Given the description of an element on the screen output the (x, y) to click on. 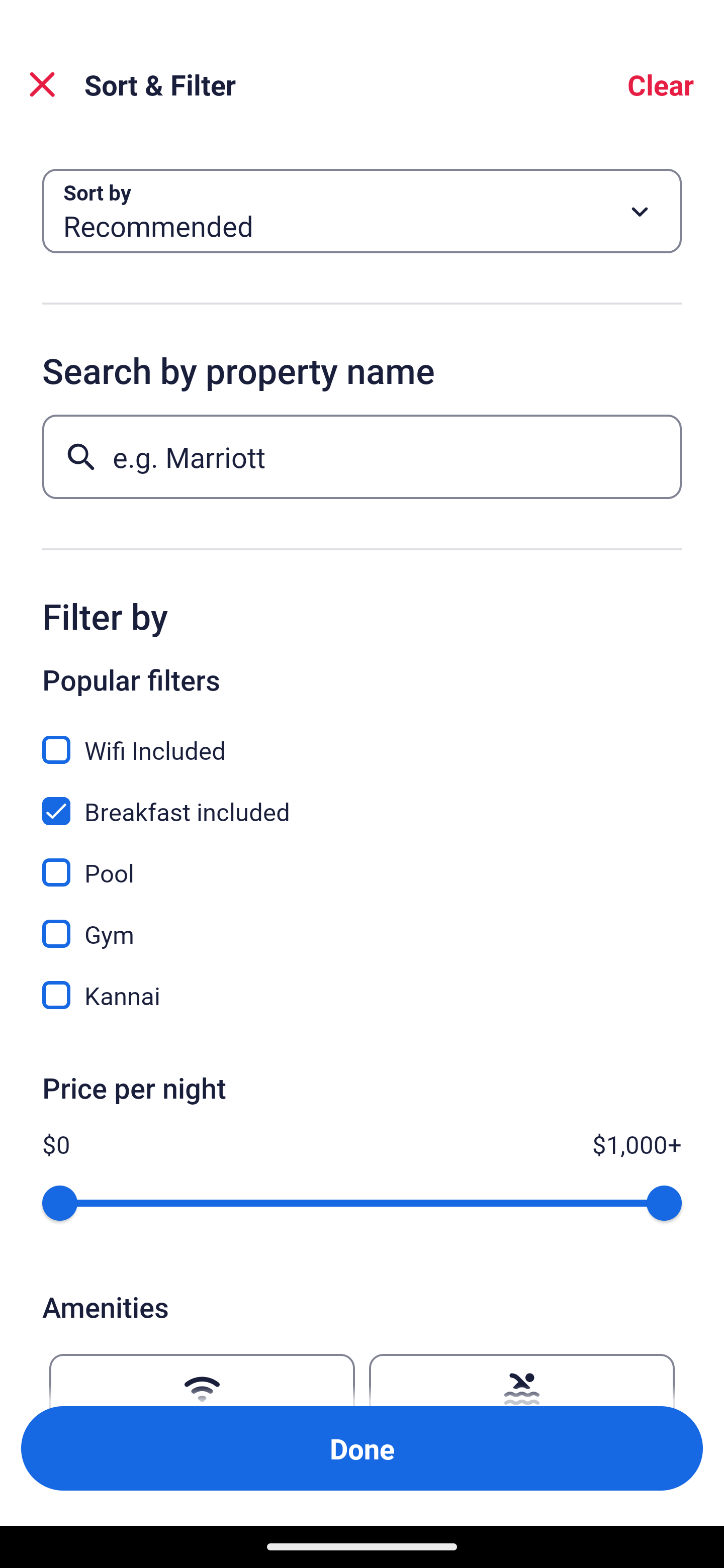
Close Sort and Filter (42, 84)
Clear (660, 84)
Sort by Button Recommended (361, 211)
e.g. Marriott Button (361, 455)
Wifi Included, Wifi Included (361, 738)
Breakfast included, Breakfast included (361, 800)
Pool, Pool (361, 861)
Gym, Gym (361, 922)
Kannai, Kannai (361, 995)
Apply and close Sort and Filter Done (361, 1448)
